Given the description of an element on the screen output the (x, y) to click on. 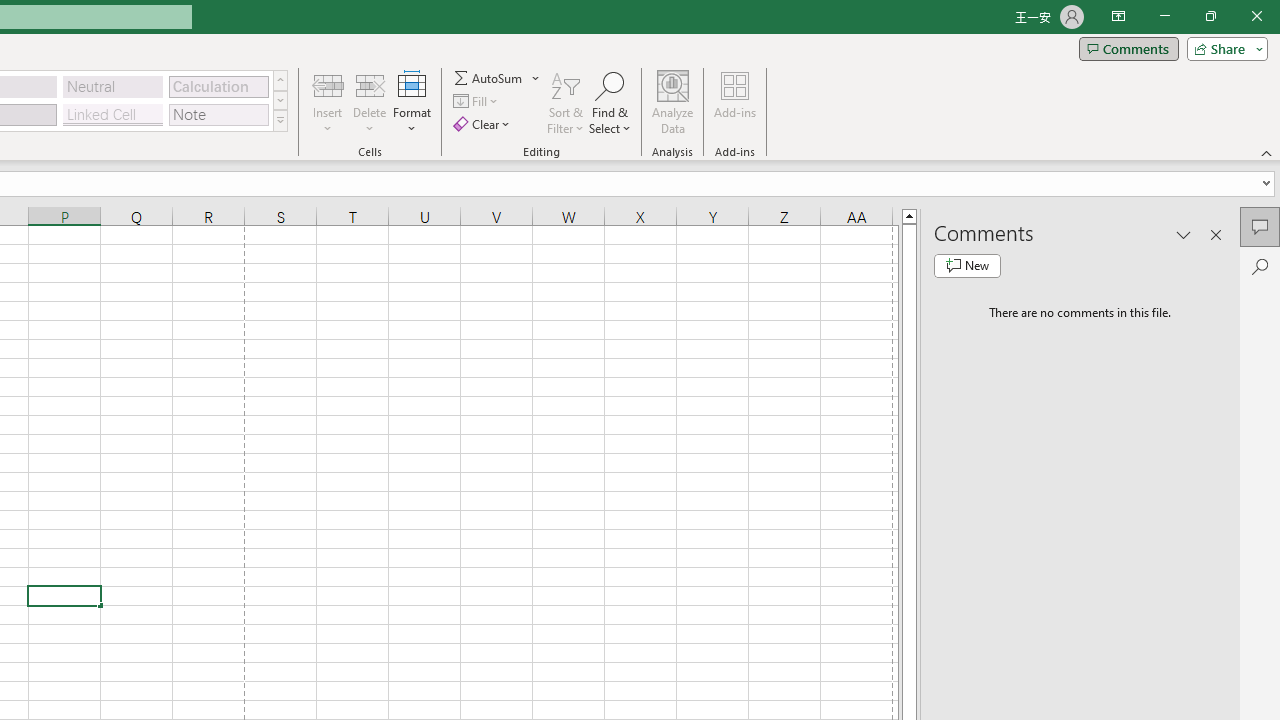
Linked Cell (113, 114)
Sort & Filter (566, 102)
Delete (369, 102)
Fill (477, 101)
AutoSum (497, 78)
Calculation (218, 86)
Format (411, 102)
Cell Styles (280, 120)
